Given the description of an element on the screen output the (x, y) to click on. 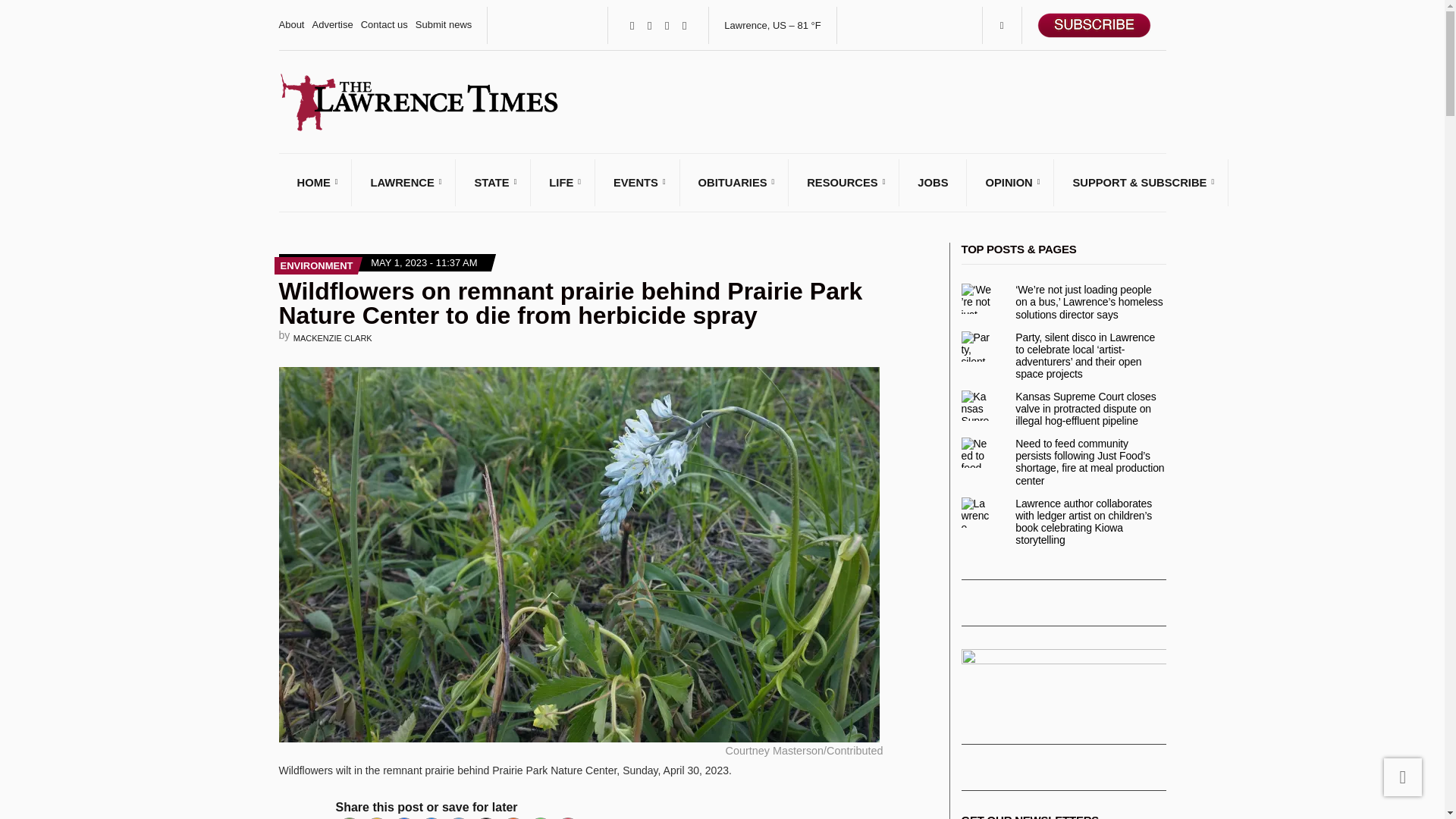
Advertise (331, 24)
Facebook (631, 25)
Twitter (457, 818)
YouTube (684, 25)
Contact us (384, 24)
LAWRENCE (403, 182)
HOME (315, 182)
Submit news (442, 24)
Pocket (566, 818)
Instagram (666, 25)
